Given the description of an element on the screen output the (x, y) to click on. 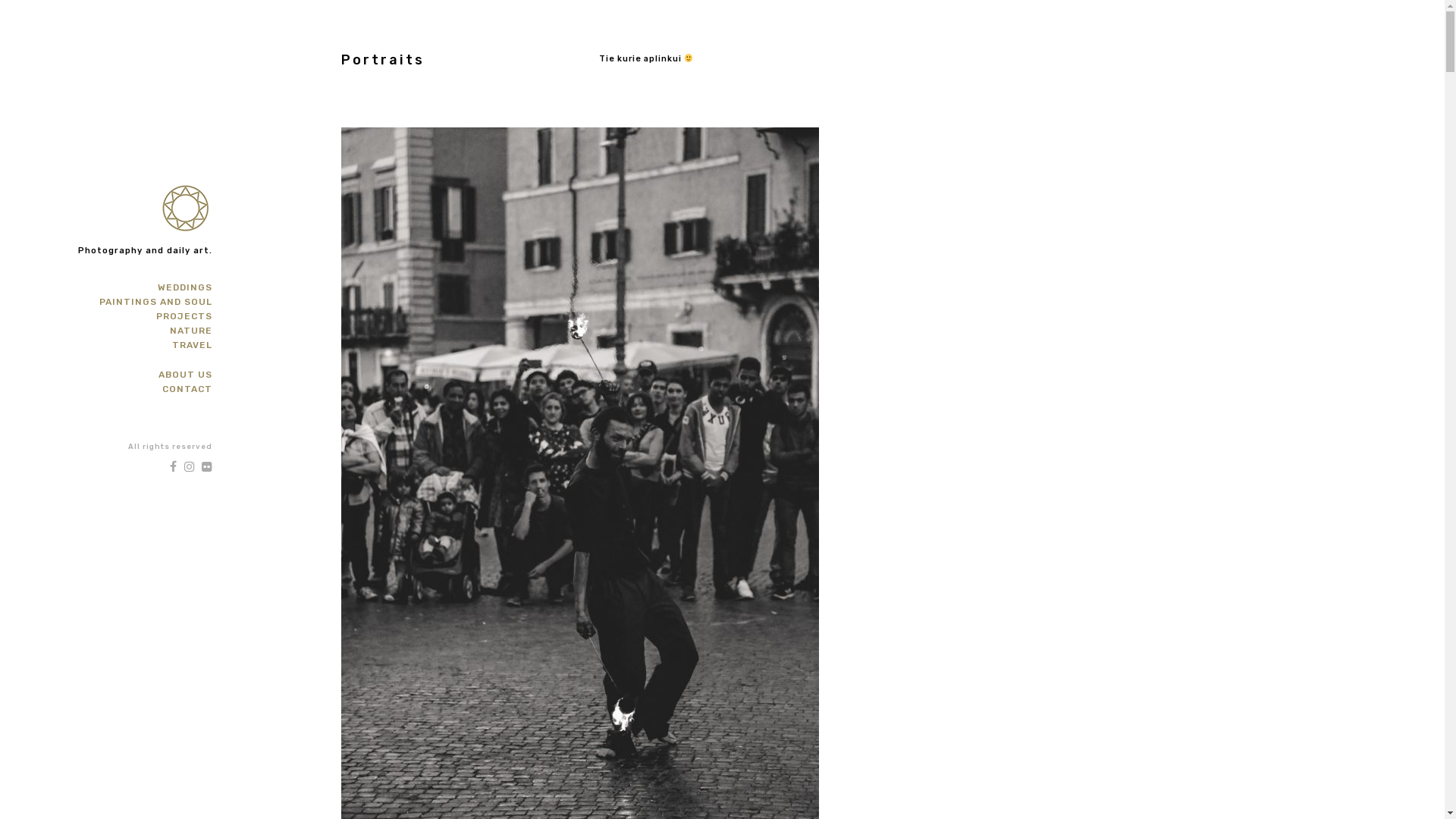
NATURE Element type: text (190, 330)
PROJECTS Element type: text (184, 315)
PAINTINGS AND SOUL Element type: text (155, 301)
TRAVEL Element type: text (192, 344)
WEDDINGS Element type: text (184, 287)
ABOUT US Element type: text (185, 374)
CONTACT Element type: text (187, 388)
